Given the description of an element on the screen output the (x, y) to click on. 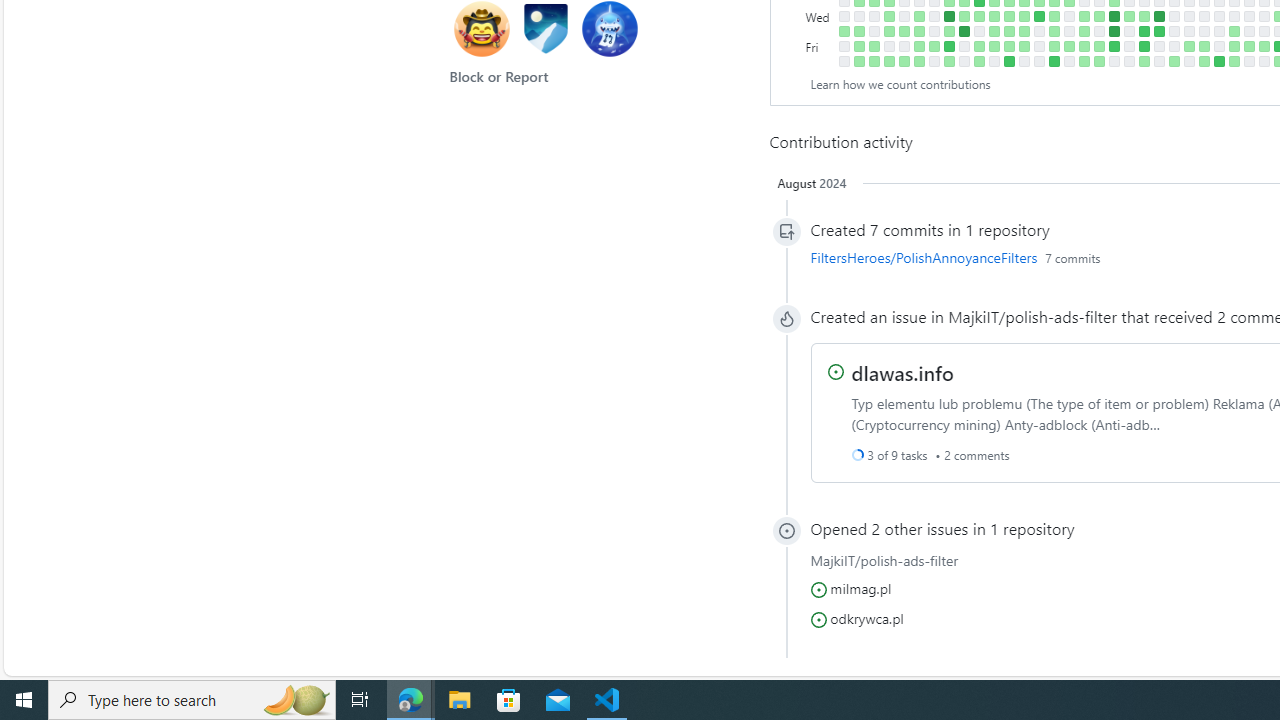
3 contributions on December 13th. (1083, 16)
No contributions on October 5th. (933, 30)
11 contributions on December 2nd. (1053, 61)
MajkiIT/polish-ads-filter (1032, 315)
No contributions on October 7th. (933, 61)
2 contributions on September 2nd. (858, 61)
No contributions on November 25th. (1038, 61)
No contributions on November 24th. (1038, 46)
1 contribution on February 22nd. (1233, 30)
4 contributions on November 9th. (1009, 30)
2 contributions on December 16th. (1083, 61)
1 contribution on October 12th. (948, 30)
7 commits (1072, 257)
No contributions on February 16th. (1218, 46)
8 contributions on February 17th. (1218, 61)
